Given the description of an element on the screen output the (x, y) to click on. 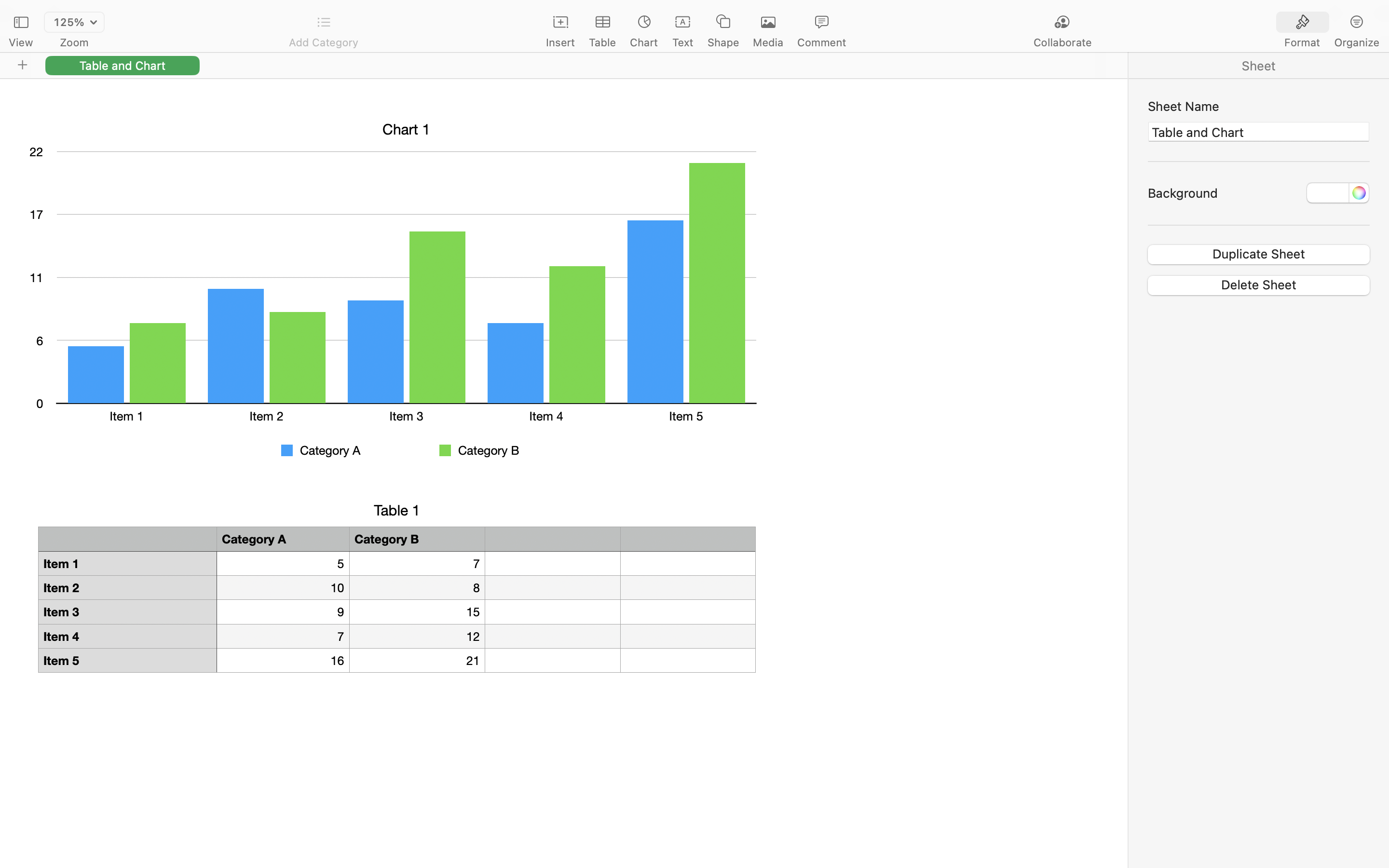
Table and Chart Element type: AXStaticText (122, 64)
Background Element type: AXStaticText (1182, 192)
